Given the description of an element on the screen output the (x, y) to click on. 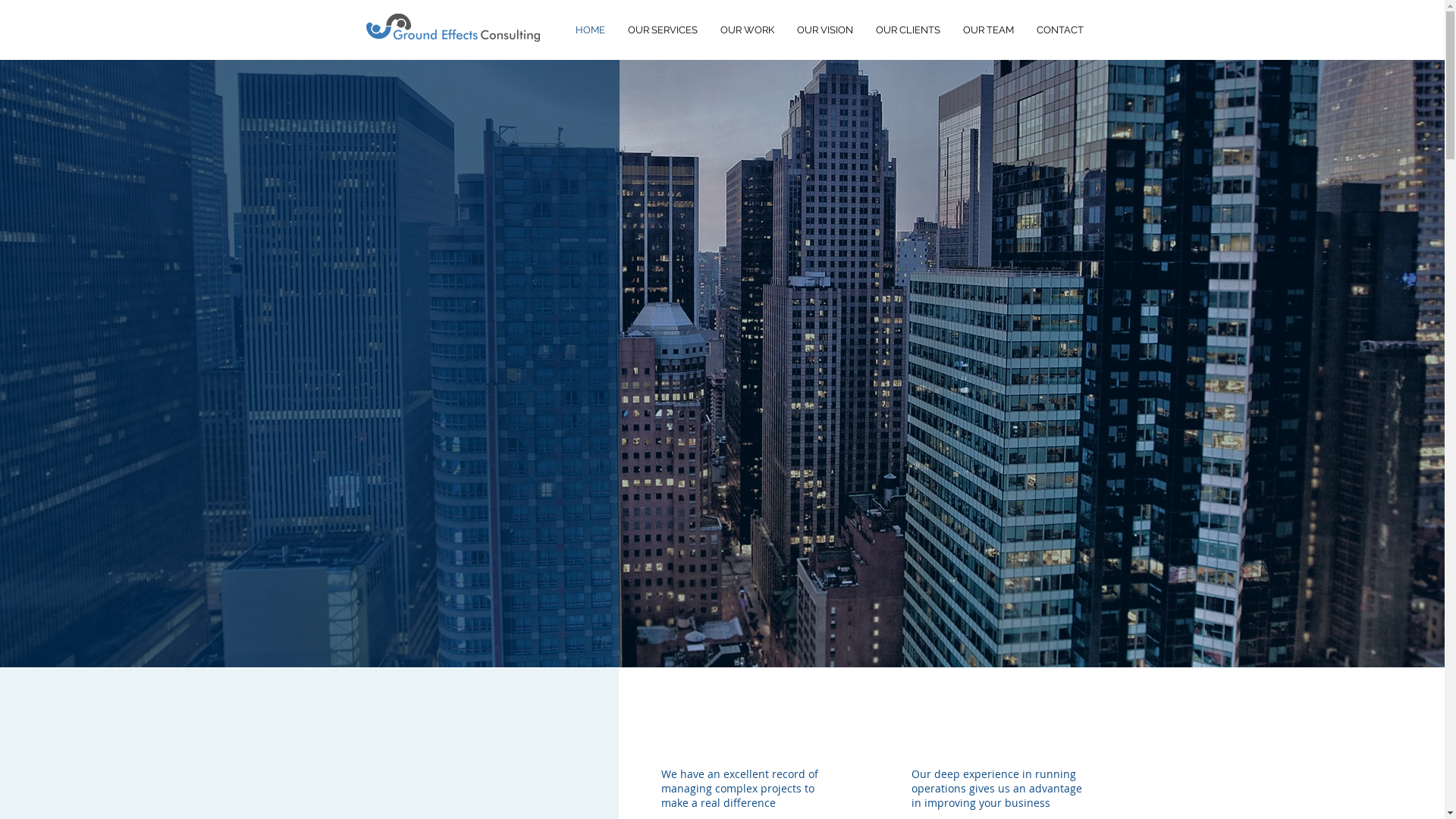
OUR CLIENTS Element type: text (907, 29)
HOME Element type: text (590, 29)
OUR VISION Element type: text (824, 29)
OUR TEAM Element type: text (987, 29)
OUR SERVICES Element type: text (661, 29)
CONTACT Element type: text (1060, 29)
OUR WORK Element type: text (746, 29)
